Given the description of an element on the screen output the (x, y) to click on. 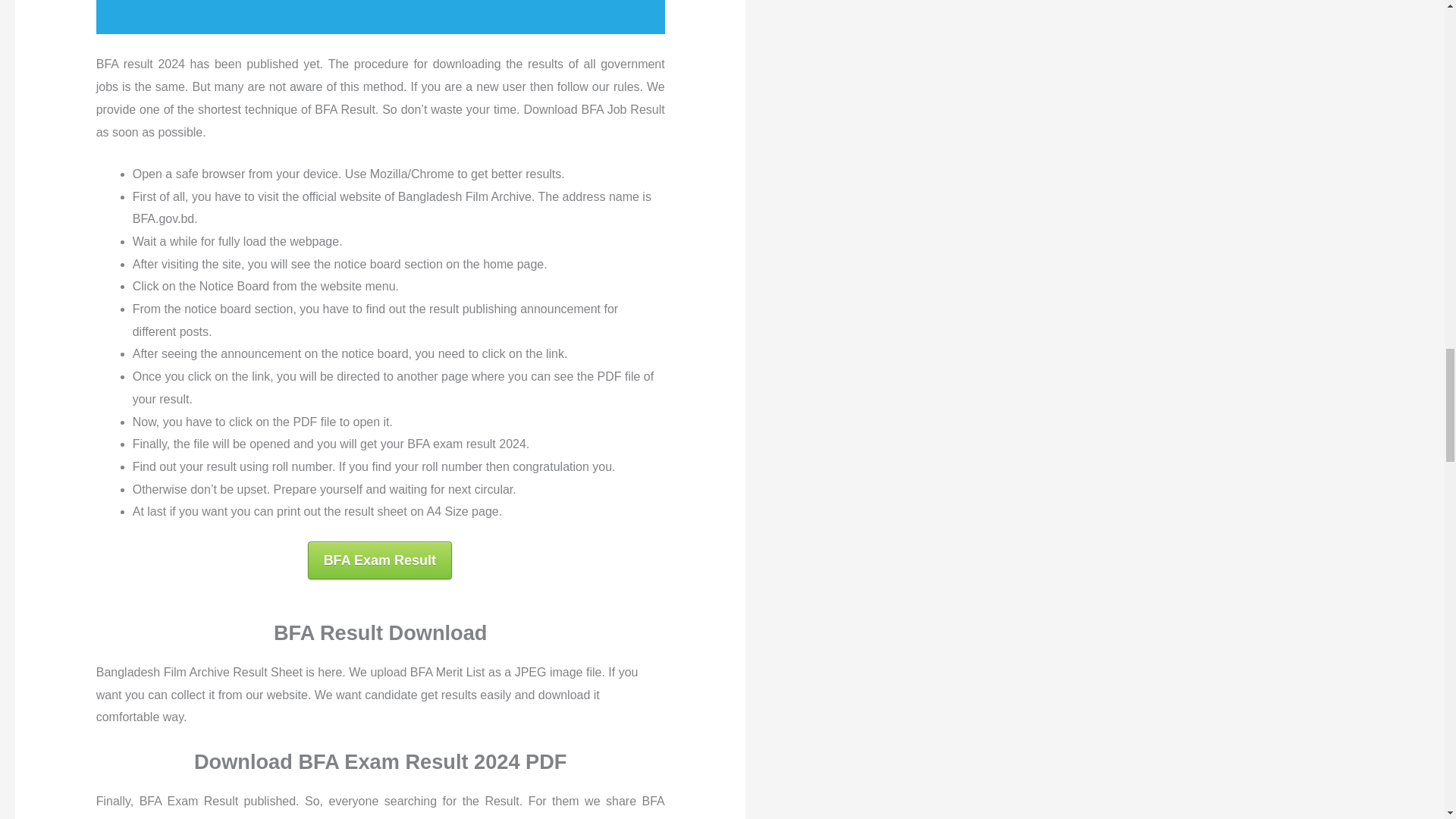
BFA Exam Result (379, 560)
